Given the description of an element on the screen output the (x, y) to click on. 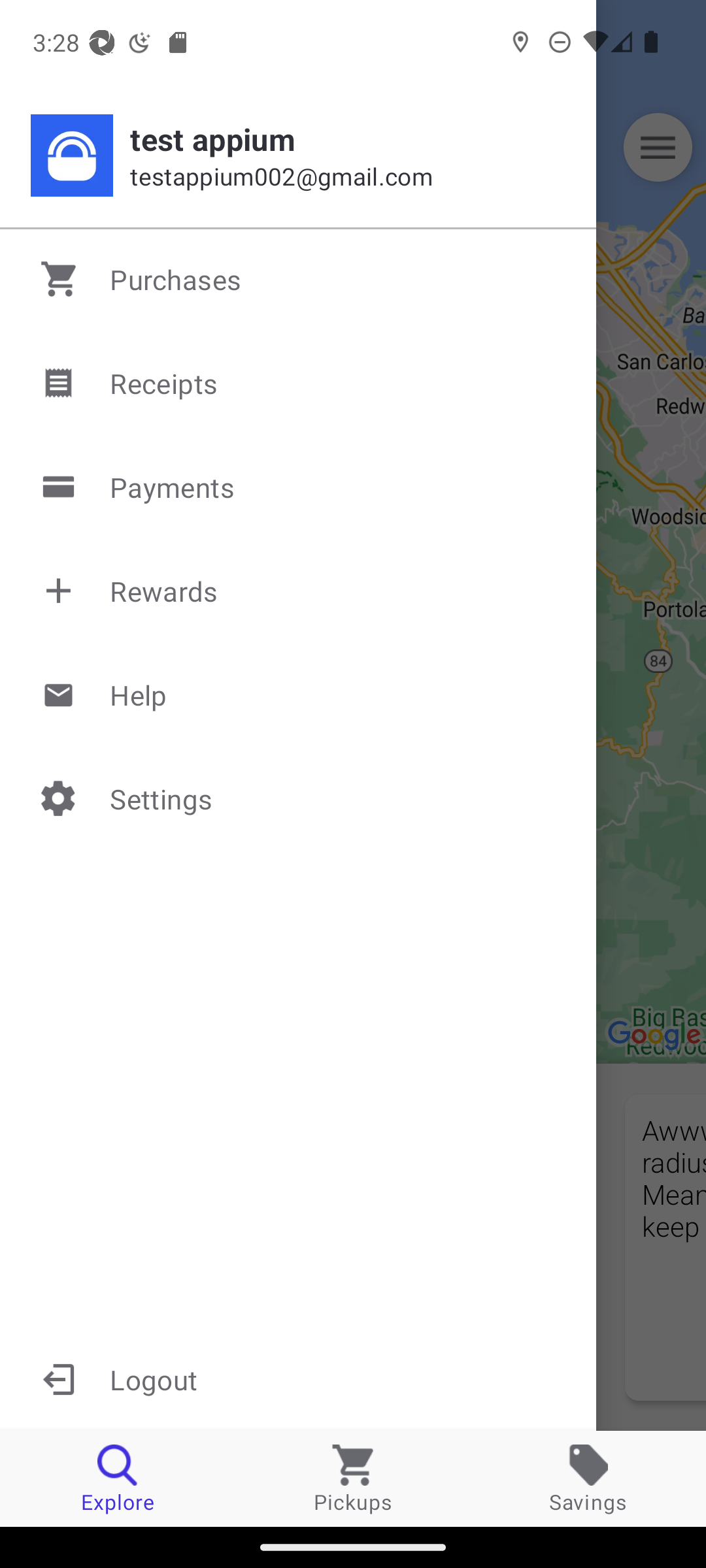
Purchases (299, 278)
Receipts (299, 382)
Payments (299, 487)
Rewards (299, 590)
Help (299, 694)
Settings (299, 797)
Logout (297, 1379)
Pickups (352, 1478)
Savings (588, 1478)
